Given the description of an element on the screen output the (x, y) to click on. 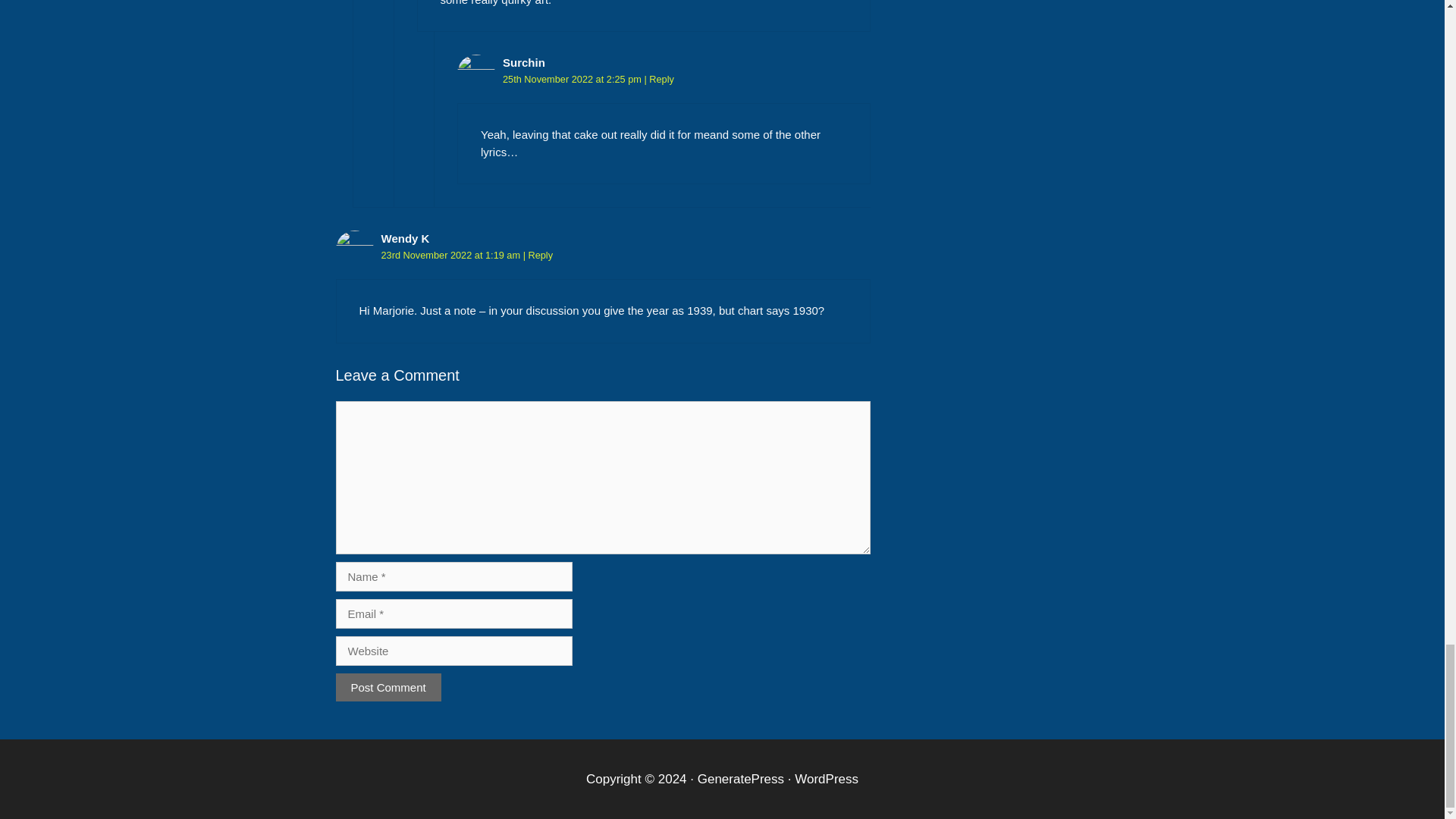
Post Comment (387, 687)
GeneratePress (740, 779)
Proudly powered by WordPress (826, 779)
